Given the description of an element on the screen output the (x, y) to click on. 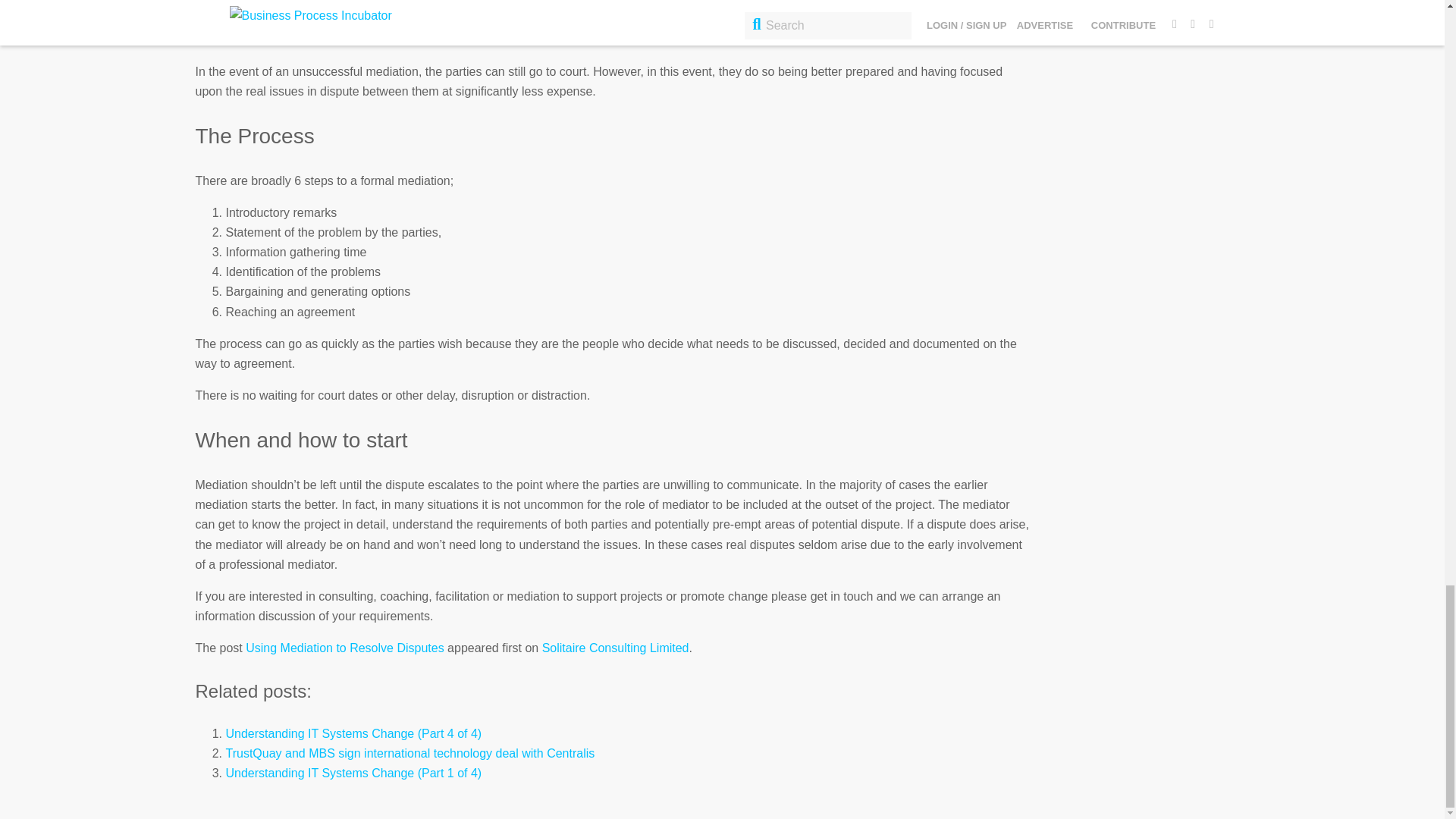
Solitaire Consulting Limited (614, 647)
Using Mediation to Resolve Disputes (345, 647)
